Given the description of an element on the screen output the (x, y) to click on. 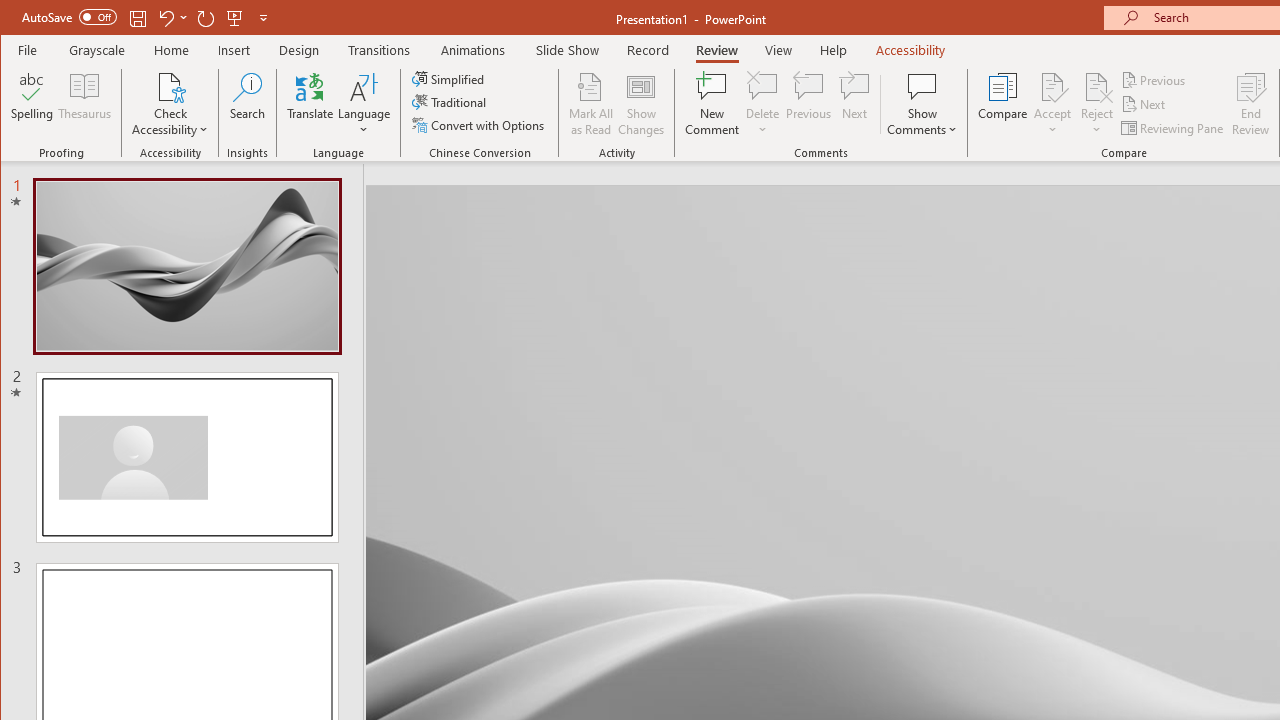
Previous (1154, 80)
Language (363, 104)
Next (1144, 103)
Show Changes (640, 104)
Reject (1096, 104)
Mark All as Read (591, 104)
